Given the description of an element on the screen output the (x, y) to click on. 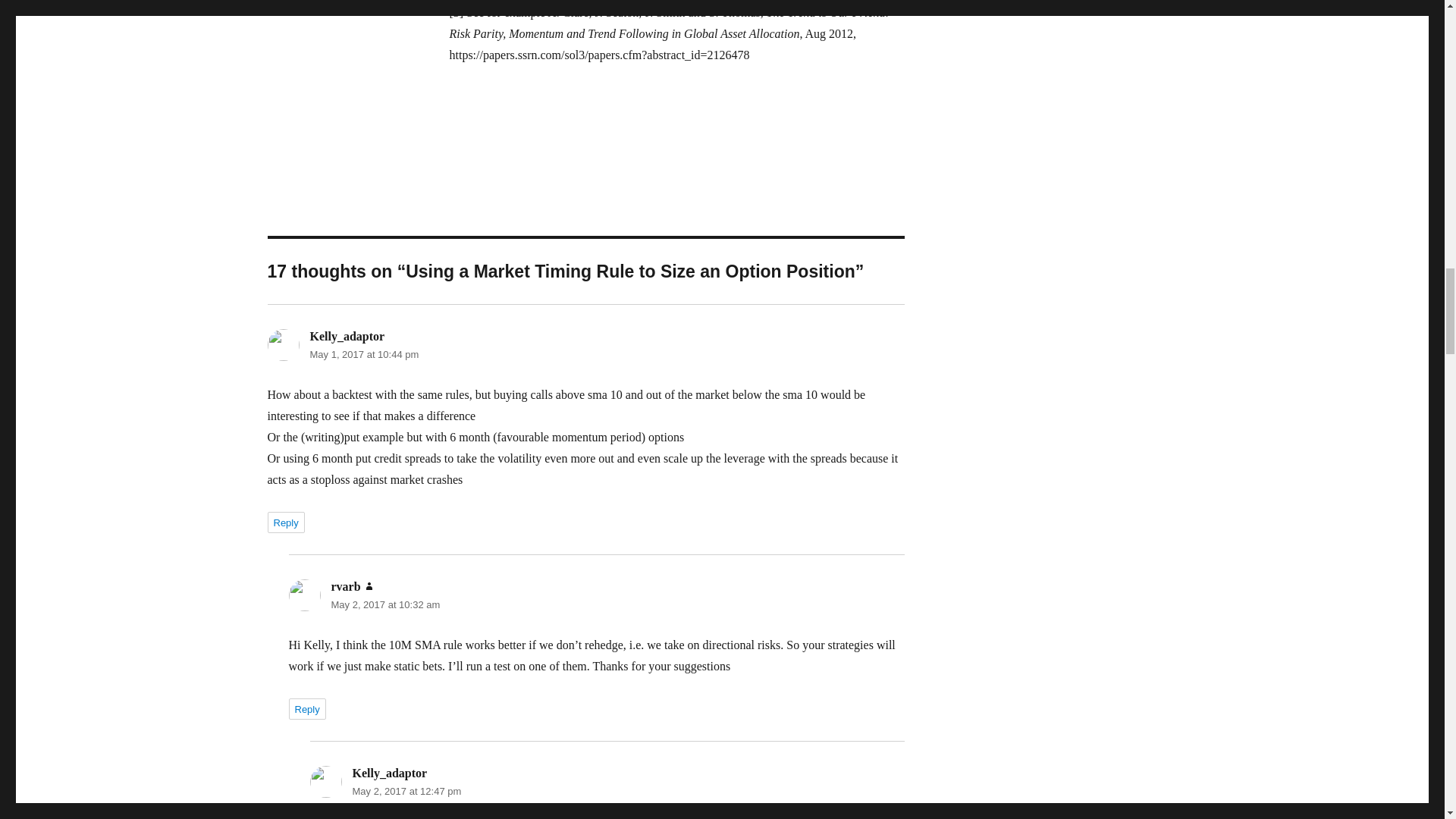
May 2, 2017 at 10:32 am (384, 604)
May 1, 2017 at 10:44 pm (363, 354)
May 2, 2017 at 12:47 pm (406, 790)
Reply (306, 708)
Reply (285, 522)
